Given the description of an element on the screen output the (x, y) to click on. 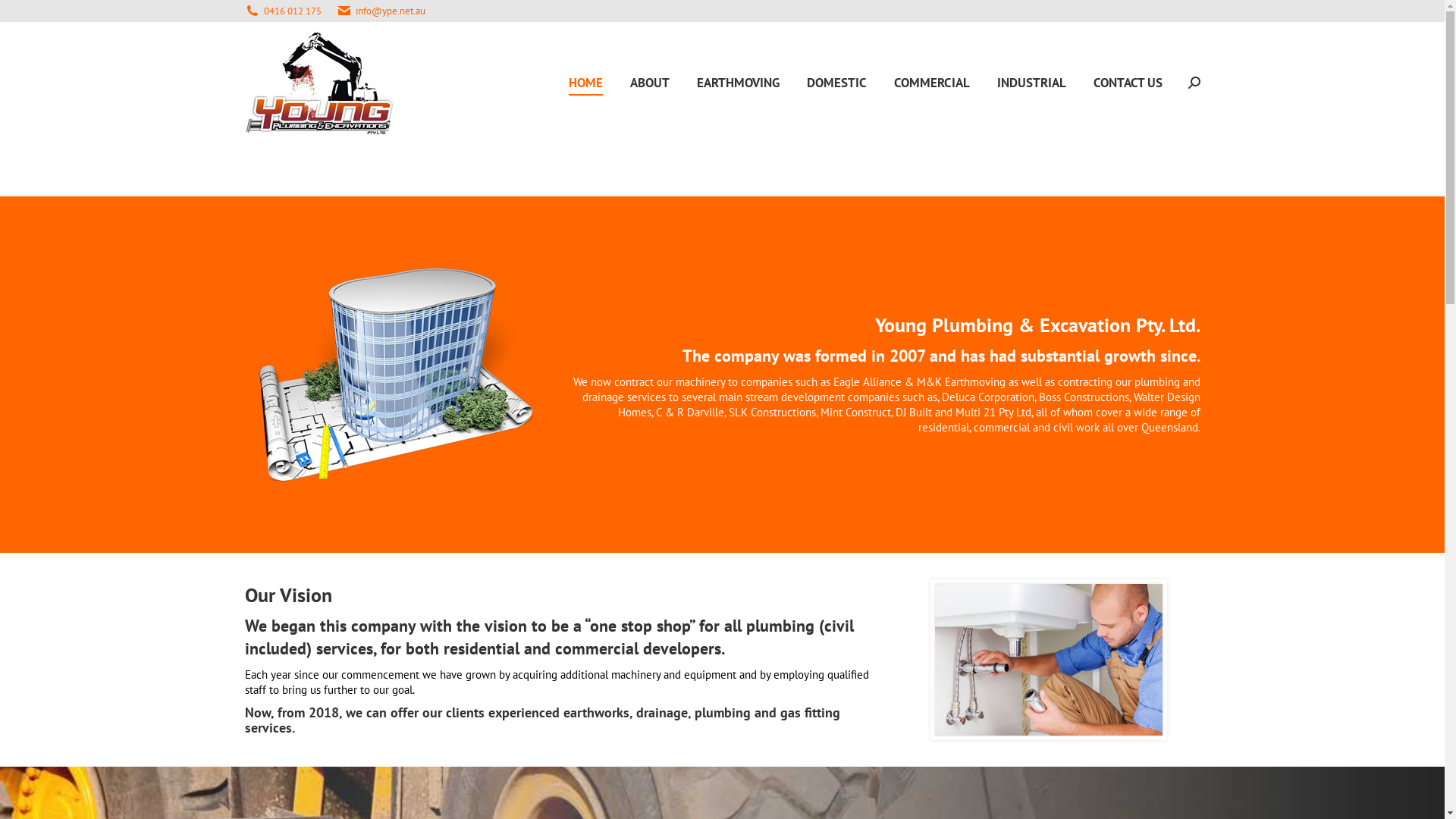
HOME Element type: text (585, 82)
DOMESTIC Element type: text (836, 82)
about-placeholder-image-002 Element type: hover (395, 374)
EARTHMOVING Element type: text (737, 82)
vision-image-placeholder Element type: hover (1047, 659)
INDUSTRIAL Element type: text (1030, 82)
info@ype.net.au Element type: text (389, 10)
ABOUT Element type: text (648, 82)
Go! Element type: text (23, 16)
COMMERCIAL Element type: text (931, 82)
CONTACT US Element type: text (1127, 82)
0416 012 175 Element type: text (292, 10)
